Given the description of an element on the screen output the (x, y) to click on. 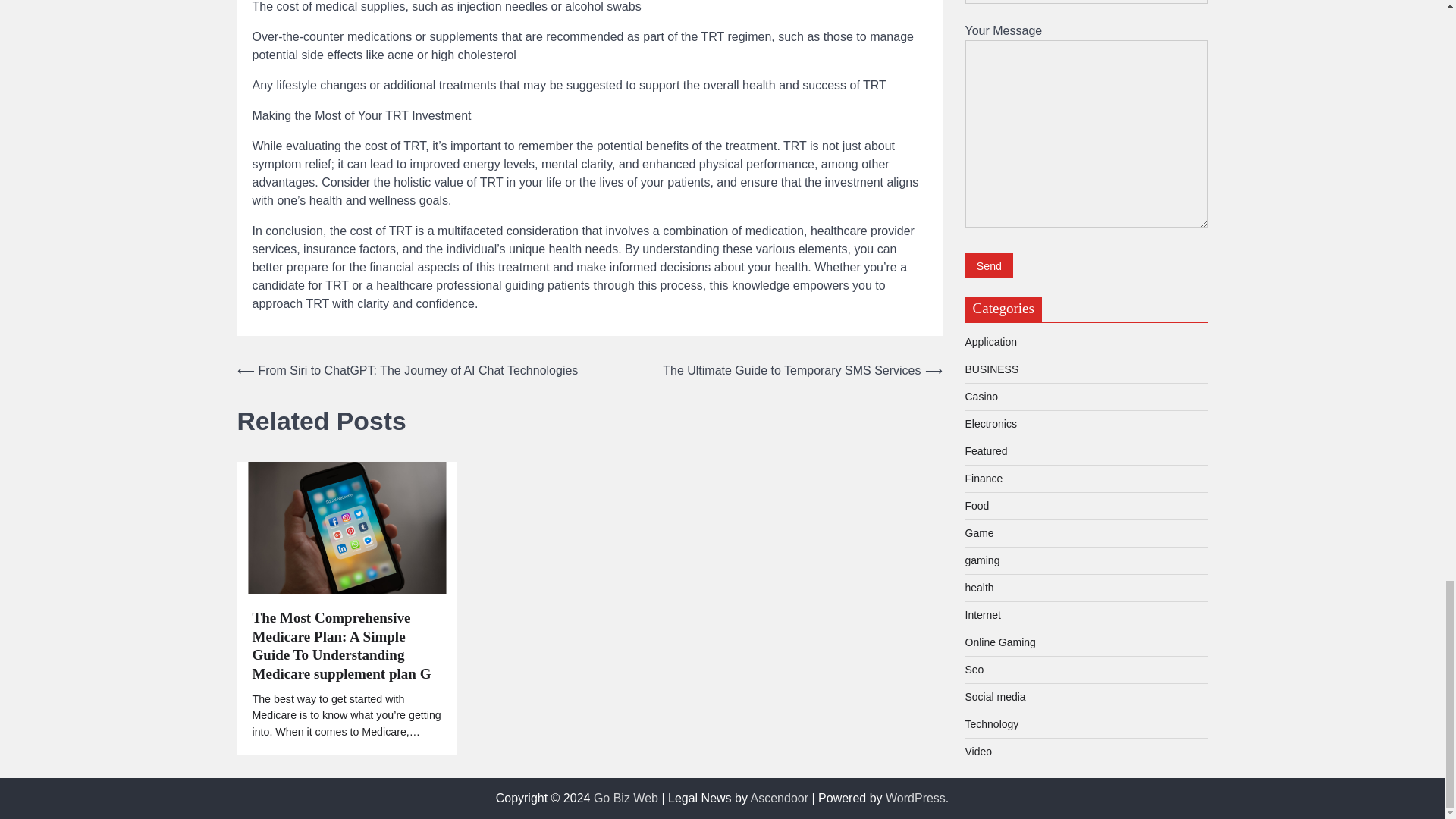
Go Biz Web (626, 797)
WordPress (914, 797)
Ascendoor (780, 797)
